Given the description of an element on the screen output the (x, y) to click on. 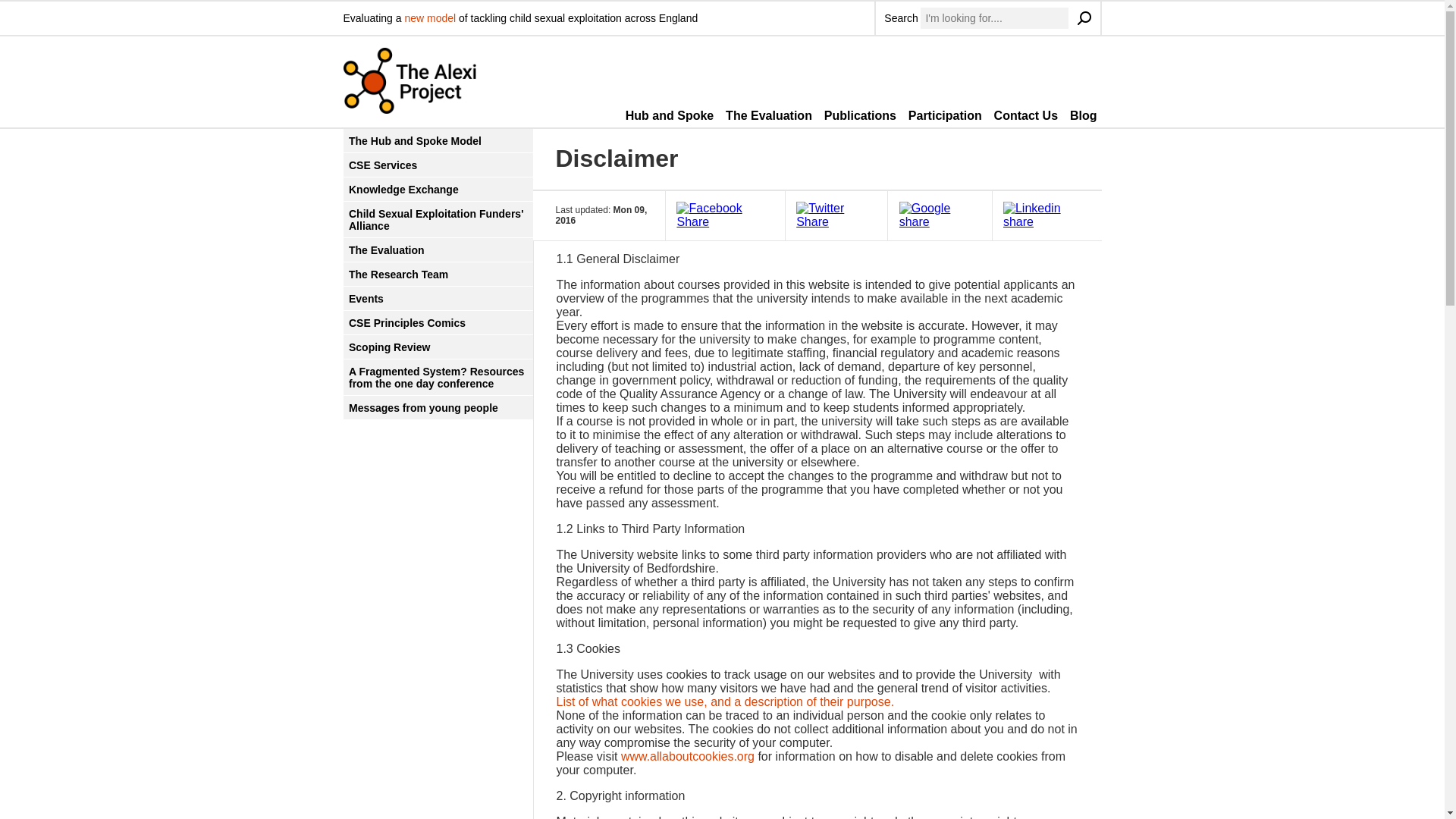
Blog (1083, 115)
Contact Us (1026, 115)
The Evaluation (437, 249)
Publications (860, 115)
The Research Team (437, 273)
Scoping Review (437, 346)
Hub and Spoke (669, 115)
Events (437, 298)
CSE Principles Comics (437, 322)
CSE Services (437, 164)
